Given the description of an element on the screen output the (x, y) to click on. 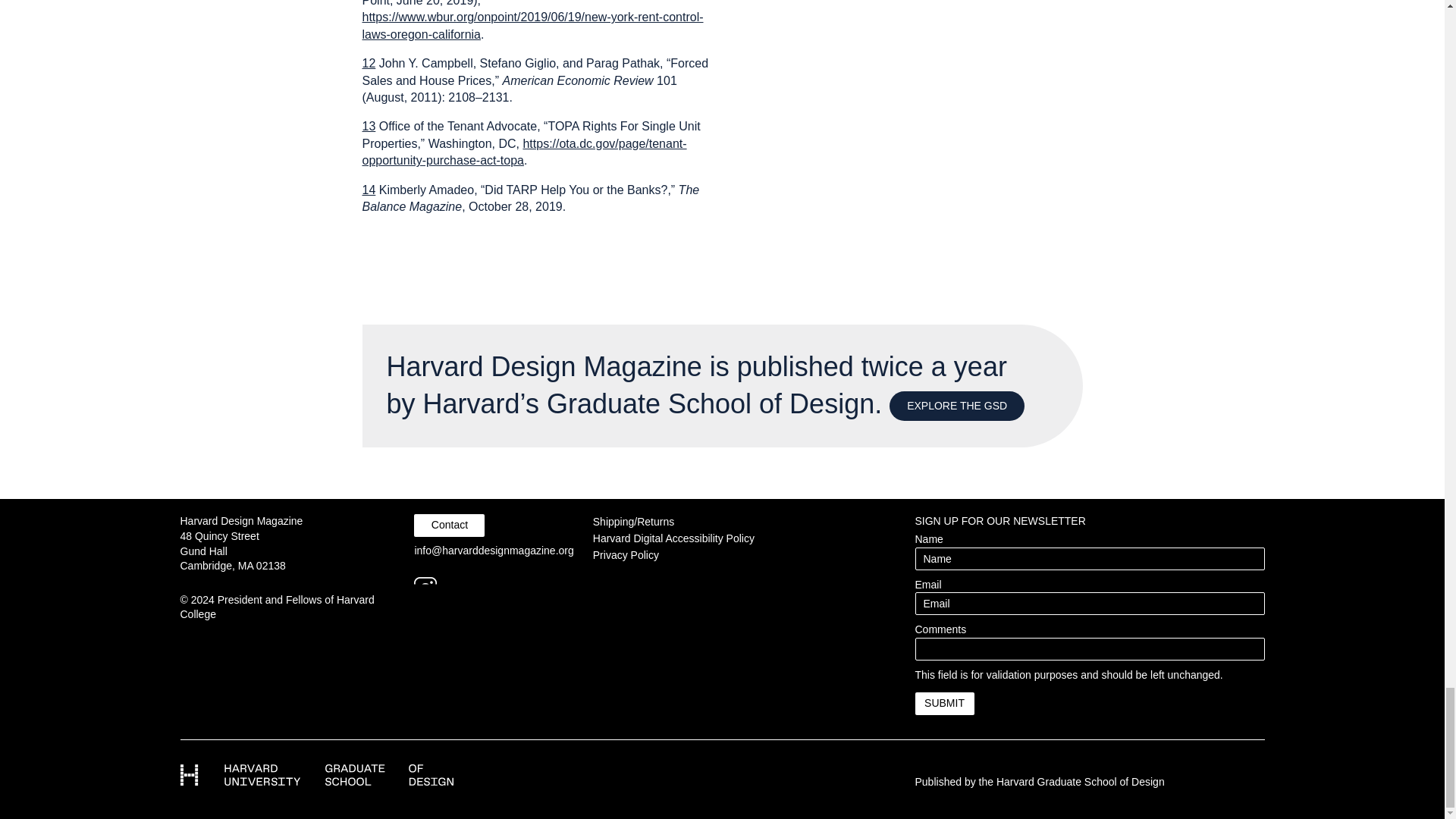
Submit (944, 703)
